Given the description of an element on the screen output the (x, y) to click on. 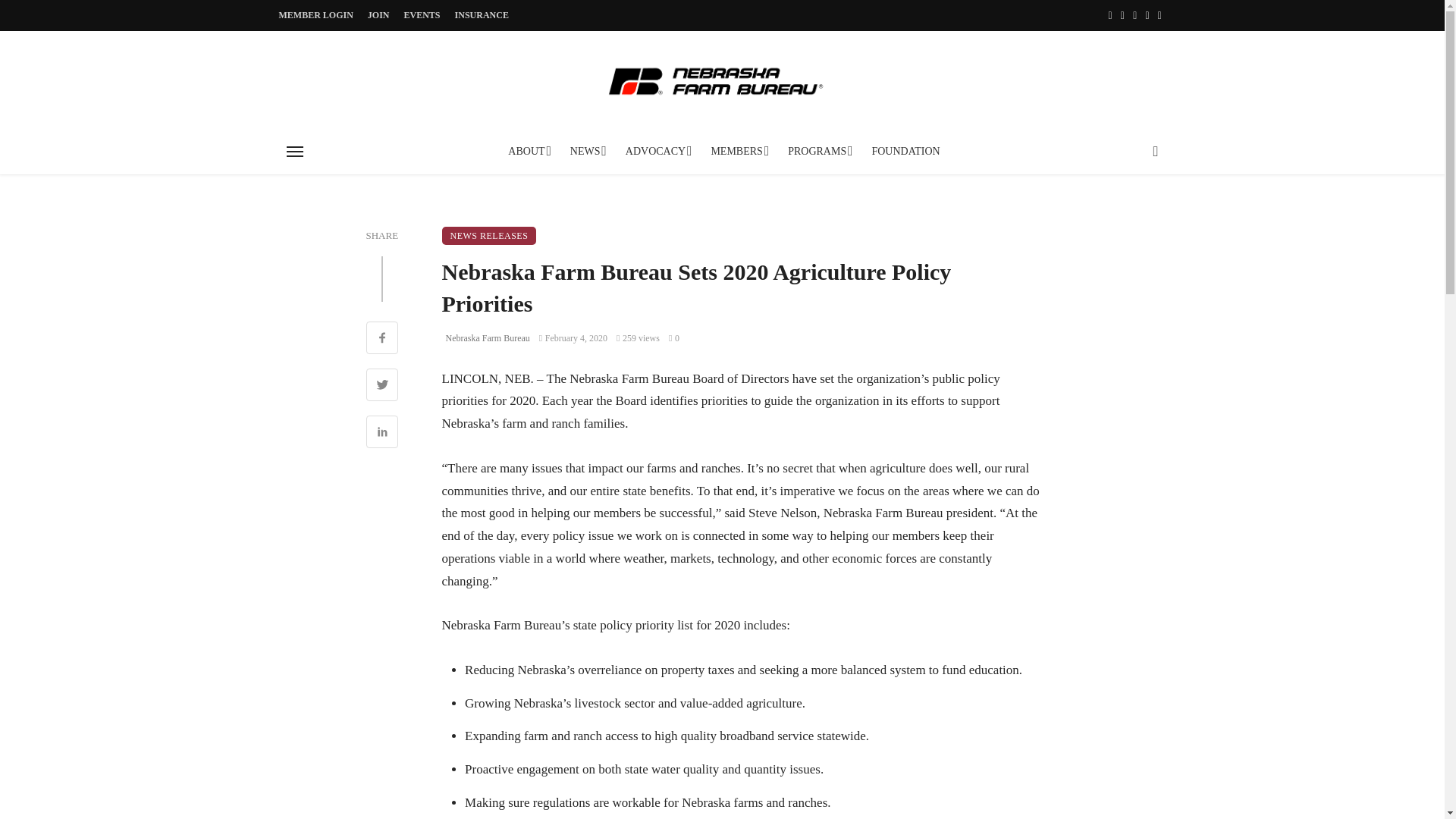
0 Comments (673, 337)
MEMBER LOGIN (316, 14)
Share on Linkedin (381, 433)
INSURANCE (481, 14)
ABOUT (527, 151)
Share on Twitter (381, 386)
JOIN (378, 14)
ADVOCACY (657, 151)
NEWS (586, 151)
EVENTS (421, 14)
